Given the description of an element on the screen output the (x, y) to click on. 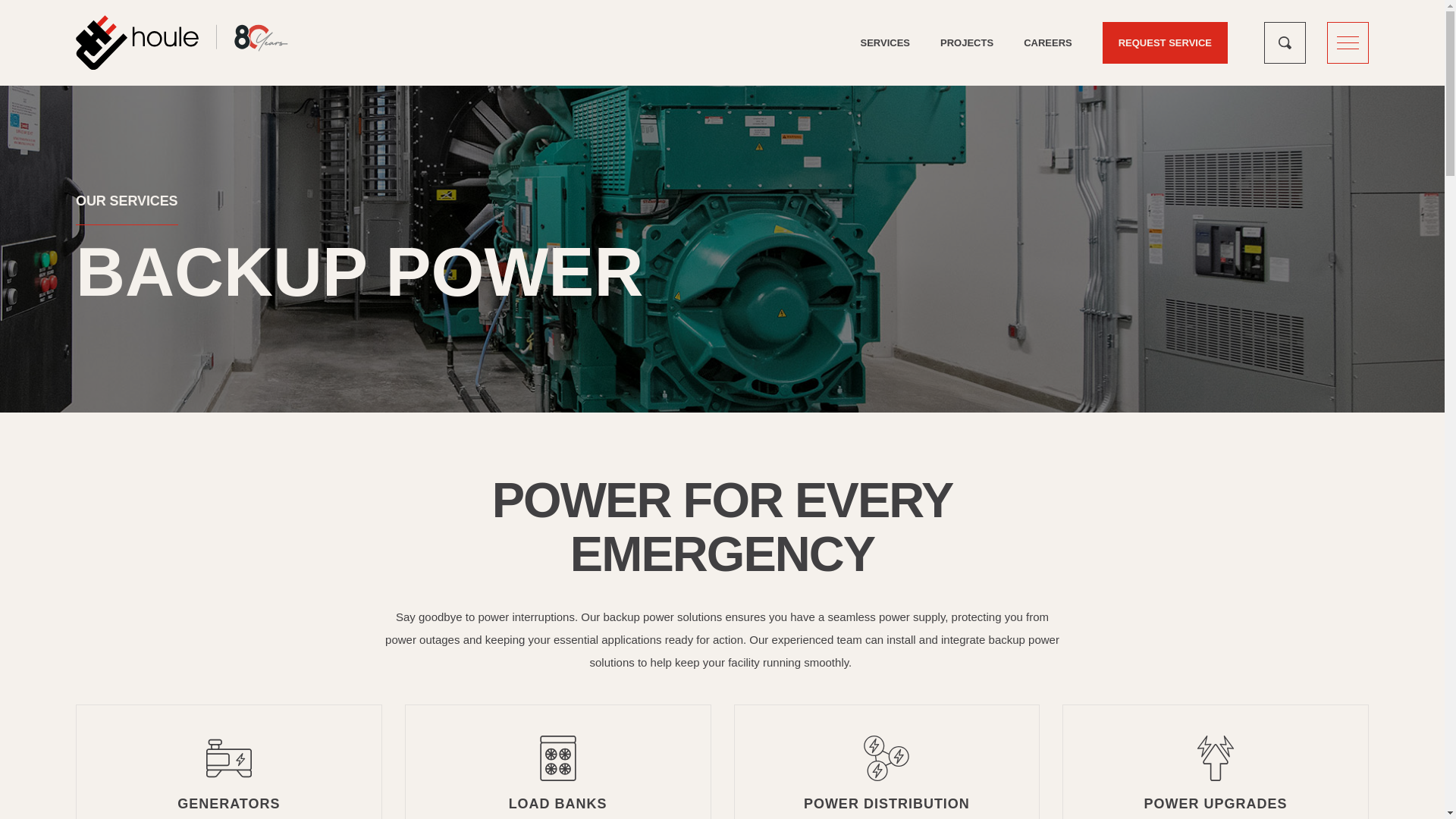
PROJECTS (966, 42)
POWER UPGRADES (1215, 761)
CAREERS (1048, 42)
SERVICES (885, 42)
POWER DISTRIBUTION (887, 761)
REQUEST SERVICE (1164, 42)
